Given the description of an element on the screen output the (x, y) to click on. 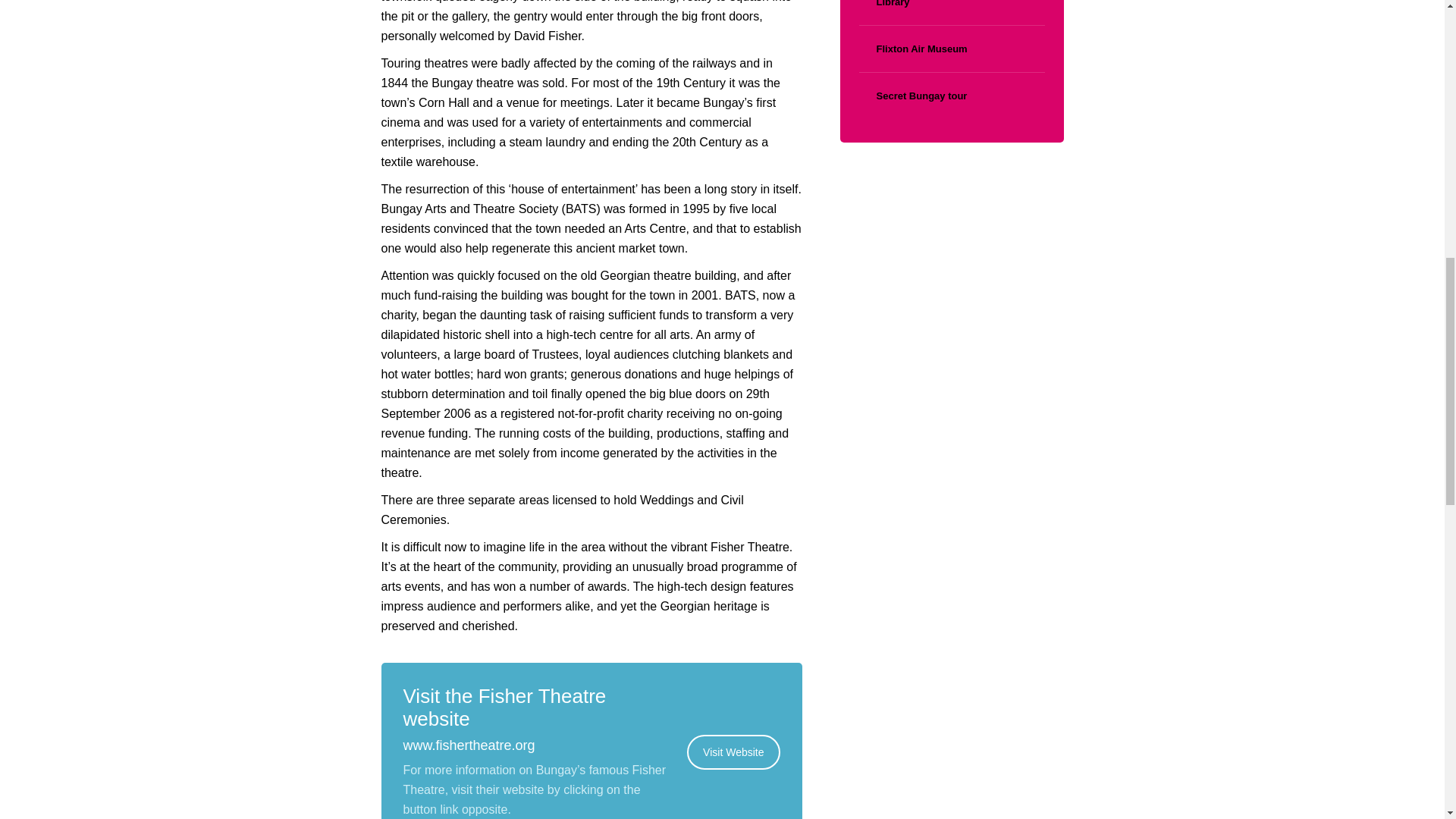
Visit Website (732, 751)
